Given the description of an element on the screen output the (x, y) to click on. 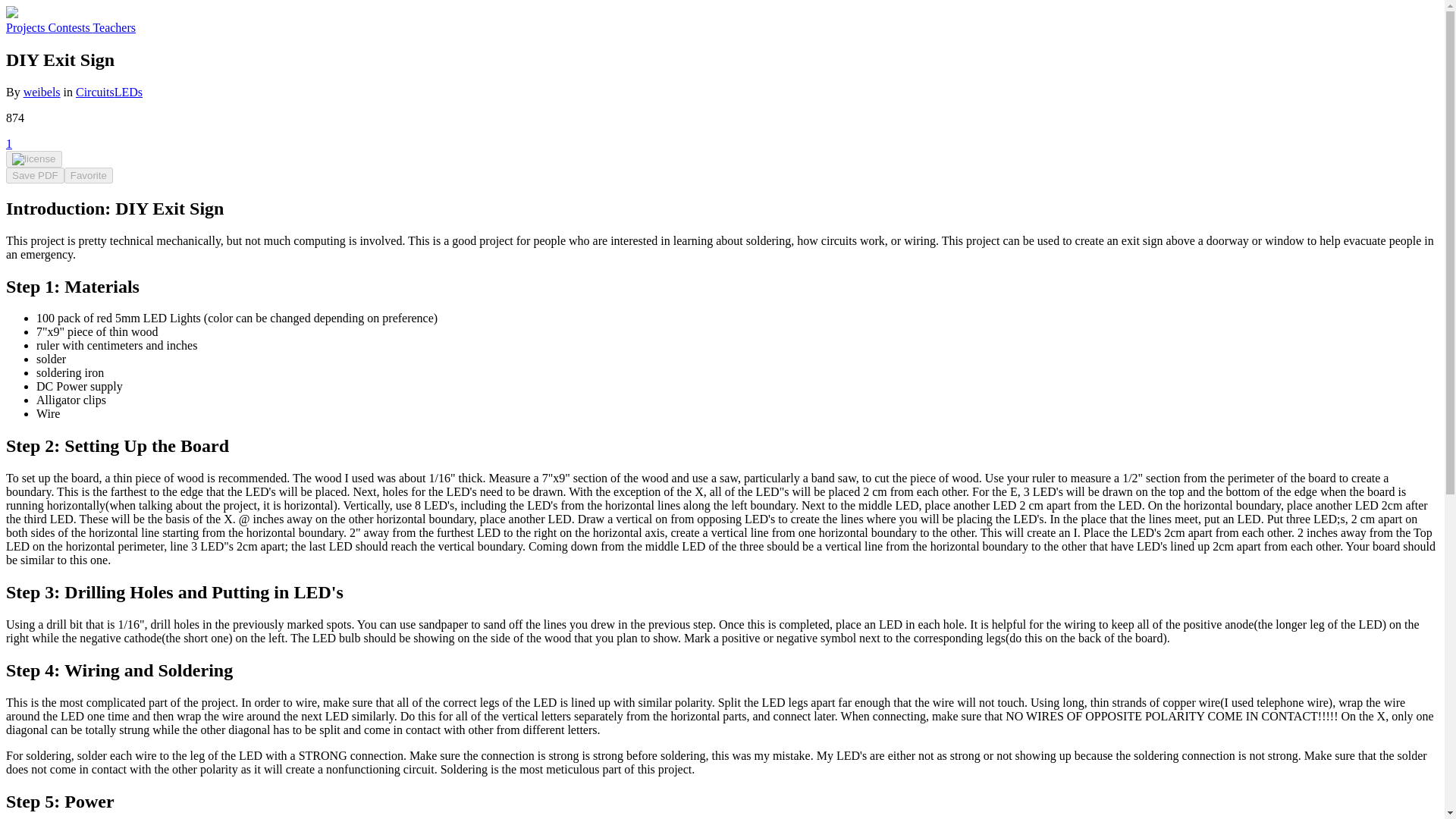
Circuits (95, 91)
Favorite (88, 175)
Save PDF (34, 175)
LEDs (128, 91)
weibels (42, 91)
Teachers (114, 27)
Projects (26, 27)
Contests (70, 27)
